Given the description of an element on the screen output the (x, y) to click on. 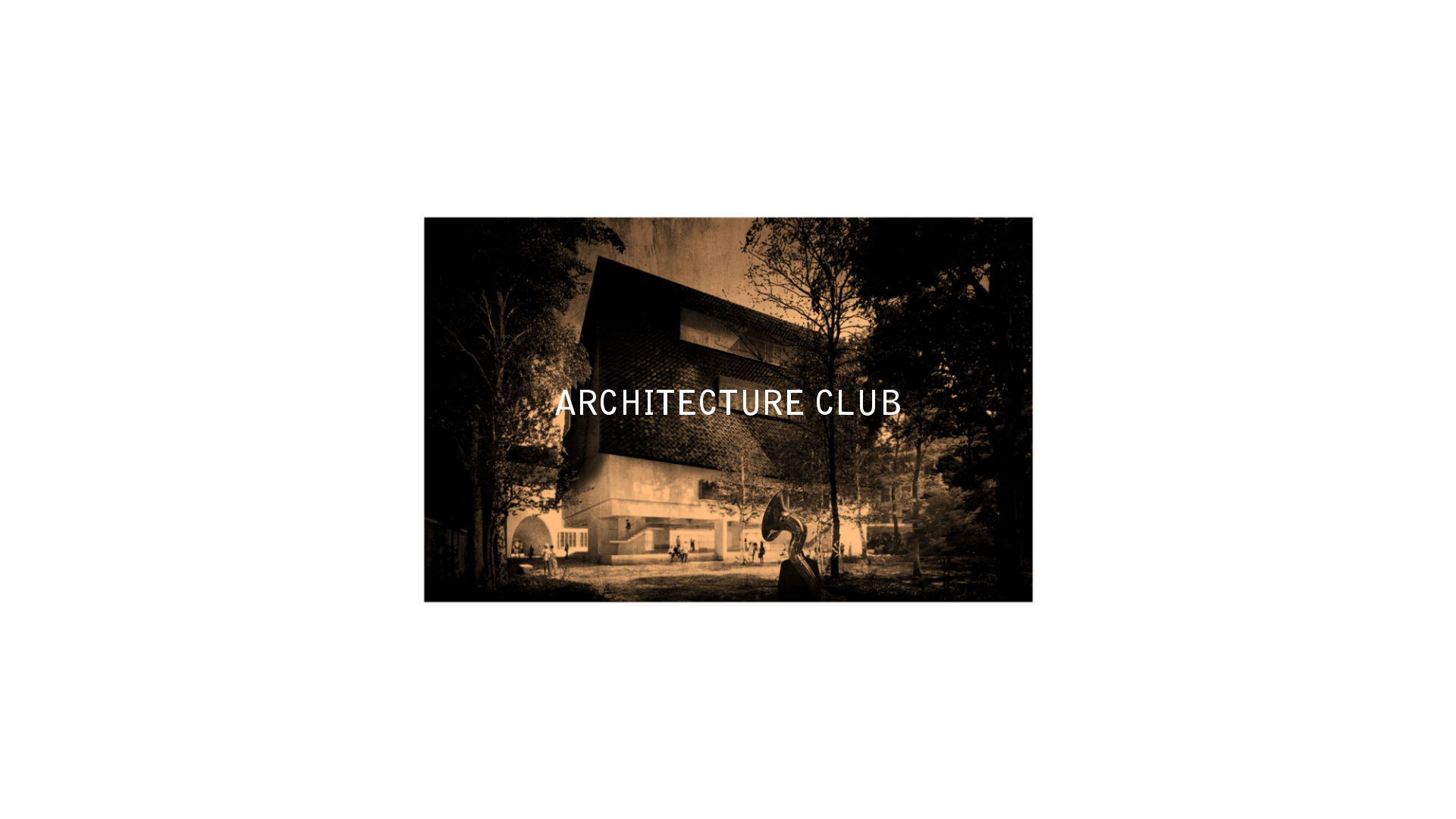
ARCHITECTURE CLUB Element type: text (727, 406)
